Given the description of an element on the screen output the (x, y) to click on. 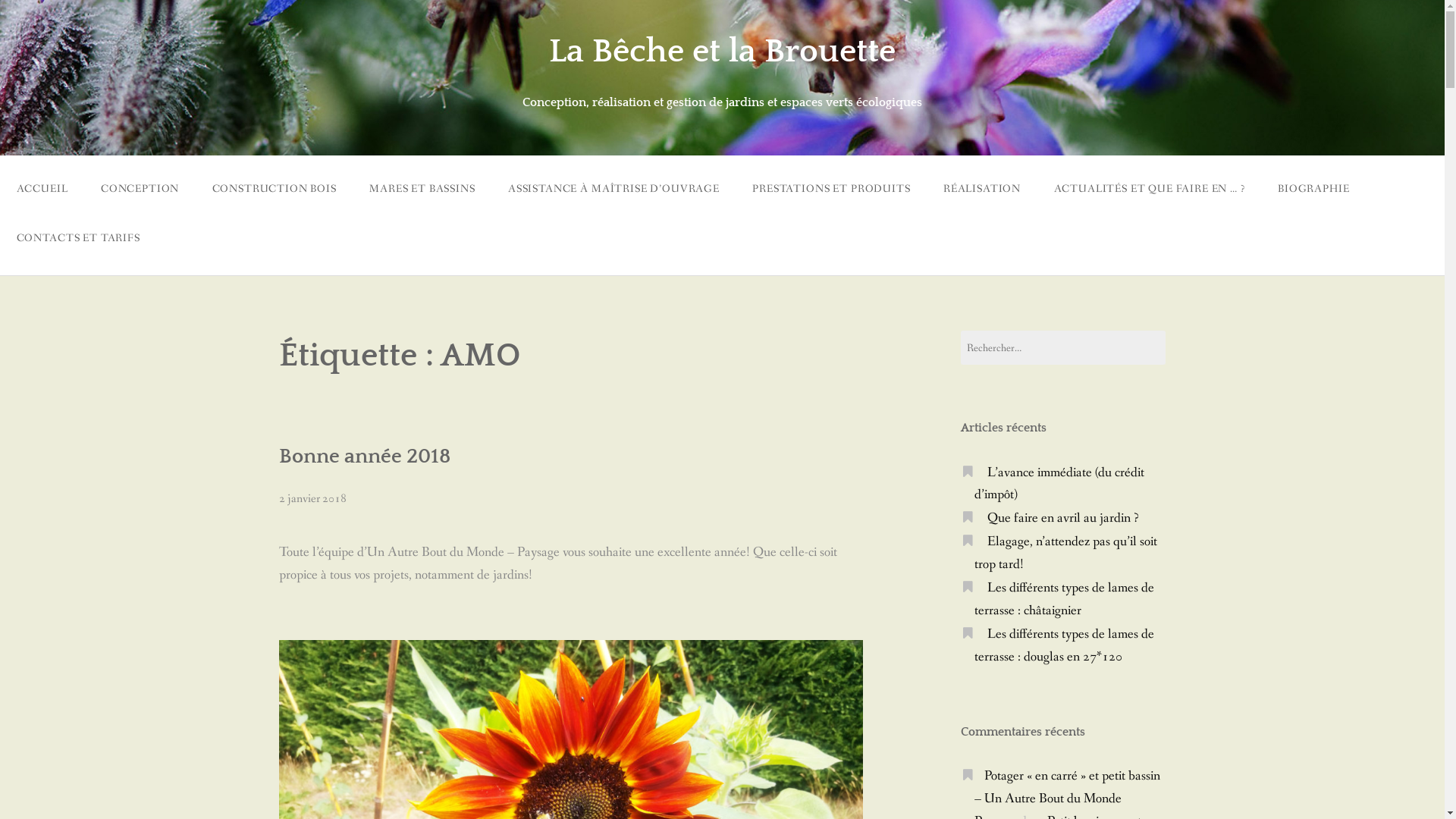
Rechercher Element type: text (42, 12)
CONCEPTION Element type: text (139, 188)
MARES ET BASSINS Element type: text (422, 188)
PRESTATIONS ET PRODUITS Element type: text (831, 188)
CONTACTS ET TARIFS Element type: text (78, 238)
ACCUEIL Element type: text (42, 188)
BIOGRAPHIE Element type: text (1313, 188)
Que faire en avril au jardin ? Element type: text (1063, 518)
CONSTRUCTION BOIS Element type: text (274, 188)
